Given the description of an element on the screen output the (x, y) to click on. 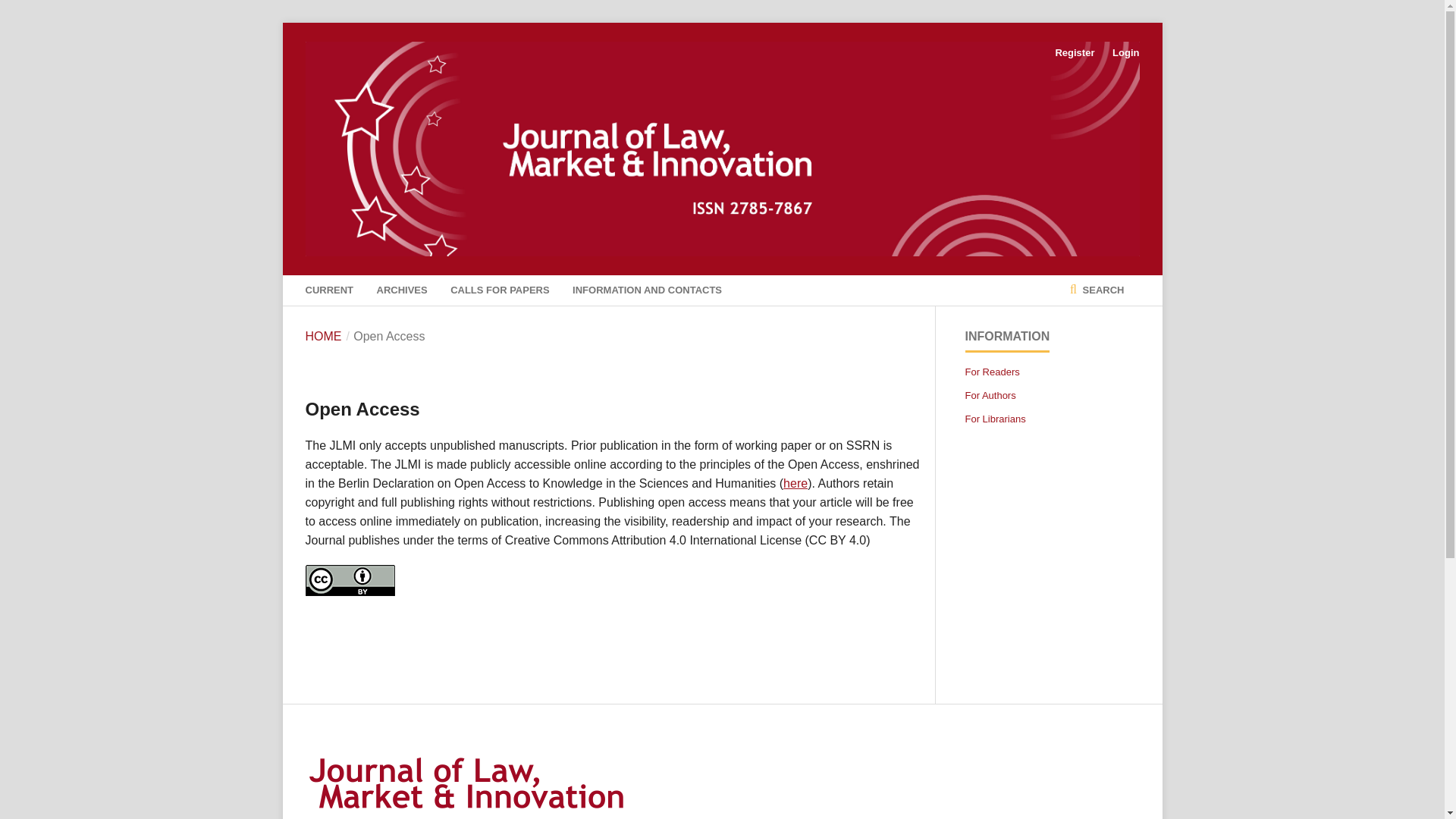
For Librarians (994, 419)
For Authors (988, 395)
SEARCH (1096, 290)
INFORMATION AND CONTACTS (647, 290)
ARCHIVES (402, 290)
Login (1121, 52)
HOME (322, 336)
CALLS FOR PAPERS (499, 290)
CURRENT (328, 290)
Register (1074, 52)
here (795, 482)
For Readers (991, 371)
